Given the description of an element on the screen output the (x, y) to click on. 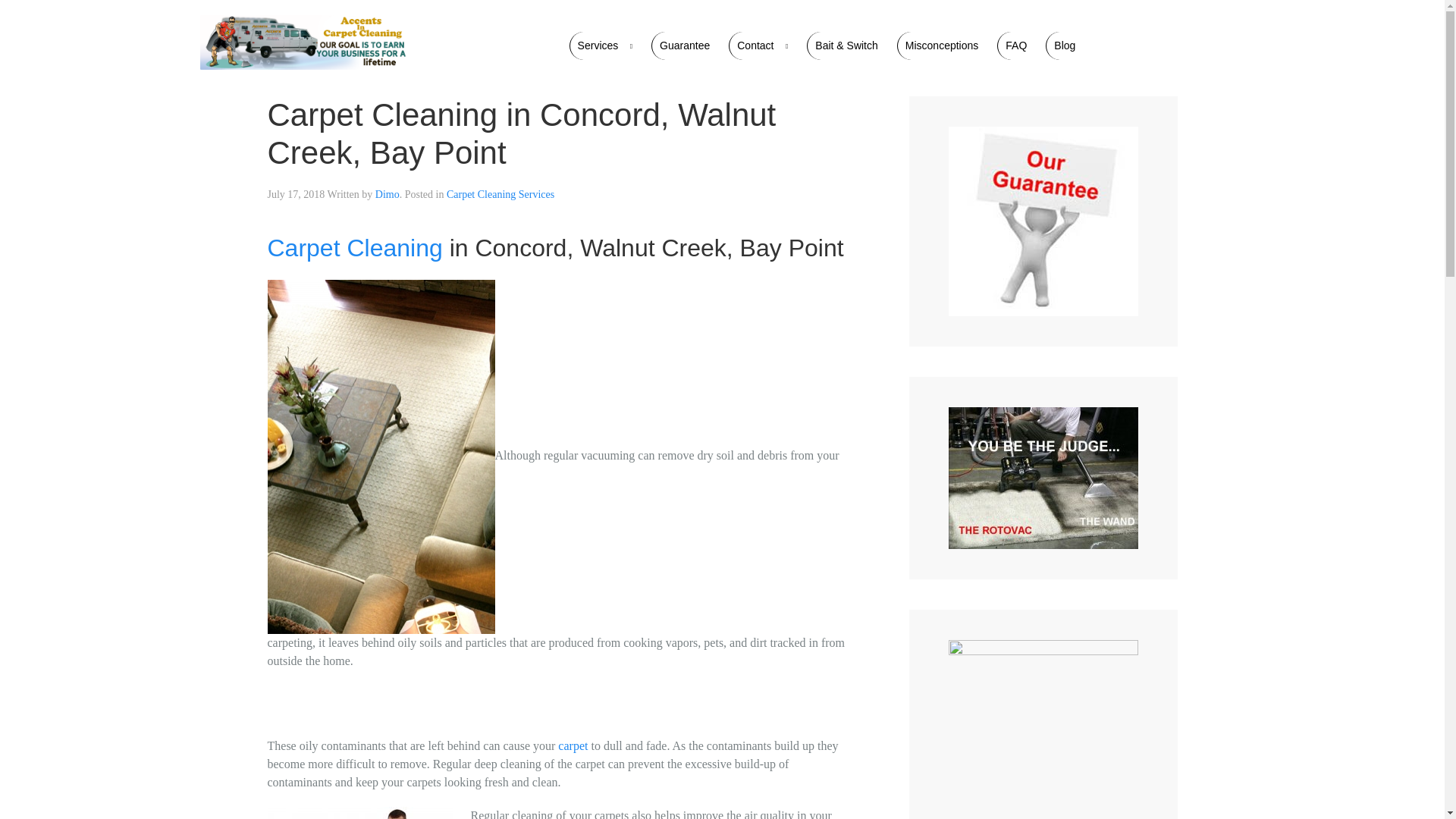
Misconceptions About Carpet Cleaning Services (941, 45)
Blog (1064, 45)
Contact (761, 45)
Carpet Cleaning Services (500, 194)
carpet (572, 745)
FAQ About Carpet Cleaning (1015, 45)
Guarantee (683, 45)
Misconceptions (941, 45)
FAQ (1015, 45)
Posts tagged with carpet (572, 745)
